Given the description of an element on the screen output the (x, y) to click on. 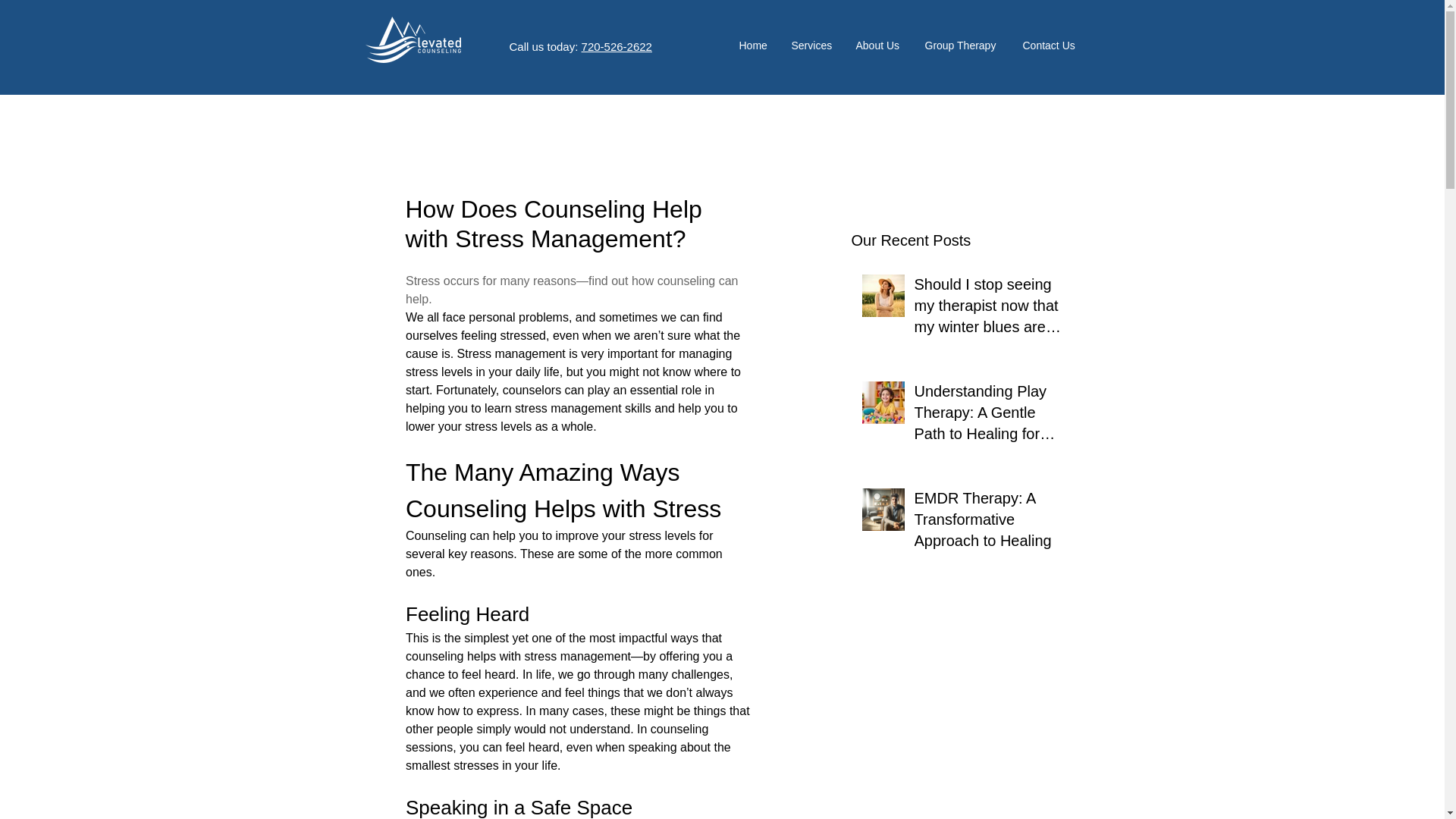
720-526-2622 (616, 46)
Group Therapy (961, 45)
Contact Us (1050, 45)
About Us (879, 45)
Home (754, 45)
Services (811, 45)
EMDR Therapy: A Transformative Approach to Healing (992, 522)
ECW LOGO (413, 39)
